Given the description of an element on the screen output the (x, y) to click on. 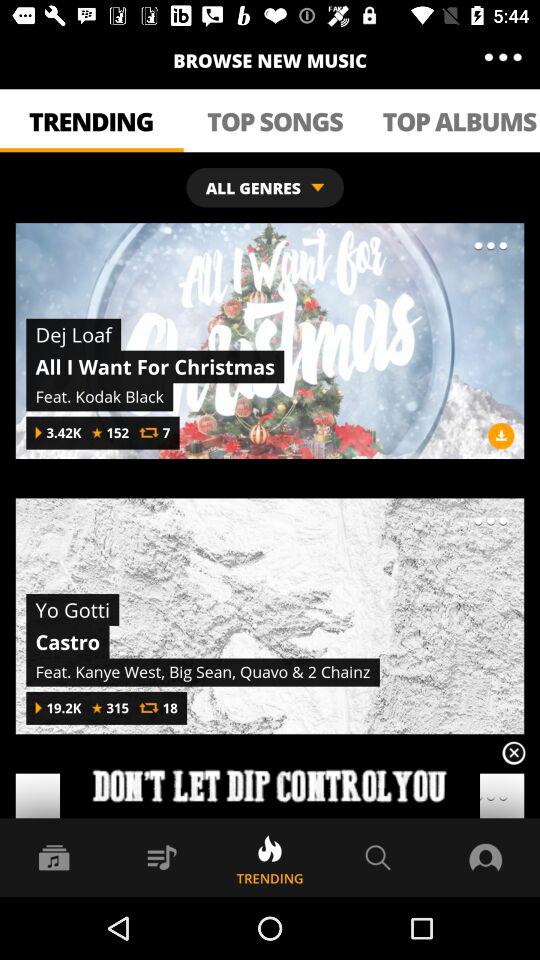
click item next to the feat. kodak black (501, 435)
